Given the description of an element on the screen output the (x, y) to click on. 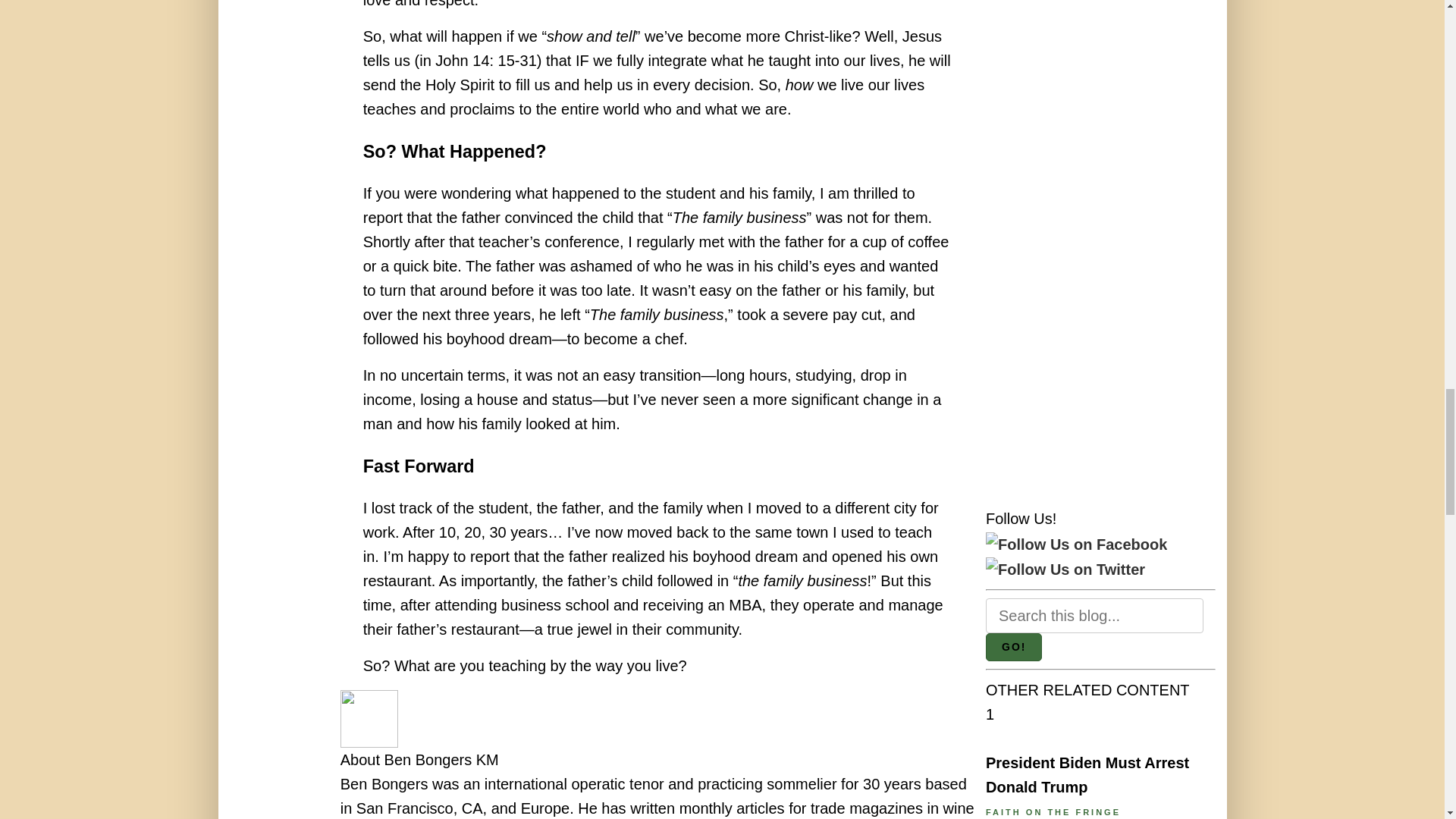
Follow Us on Twitter (1064, 569)
Go! (1013, 646)
Follow Us on Facebook (1076, 544)
